Given the description of an element on the screen output the (x, y) to click on. 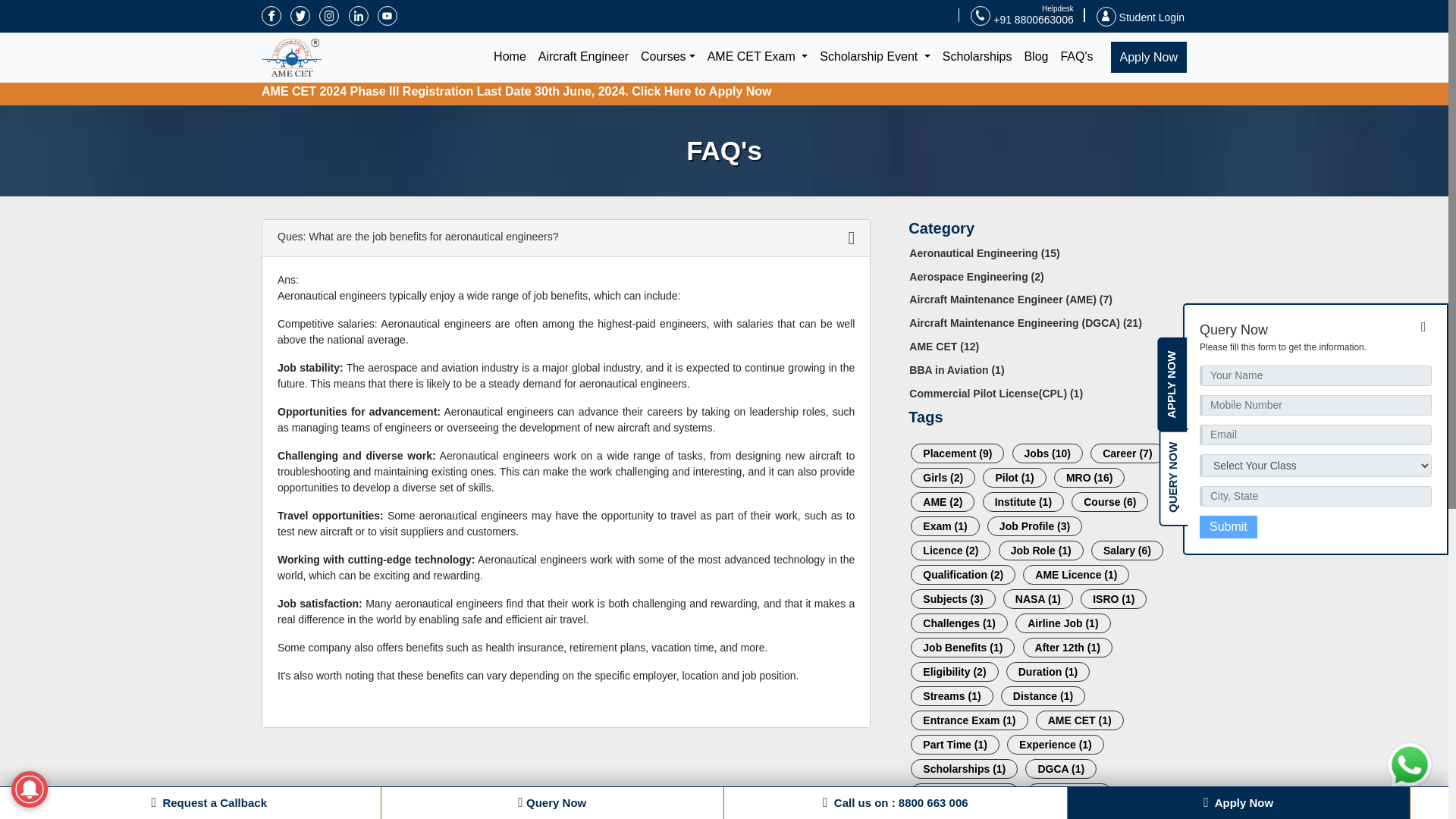
AME CET Exam (757, 56)
Courses (667, 56)
Scholarship Event (874, 56)
Aircraft Engineer (583, 56)
Student Login (1140, 17)
